Given the description of an element on the screen output the (x, y) to click on. 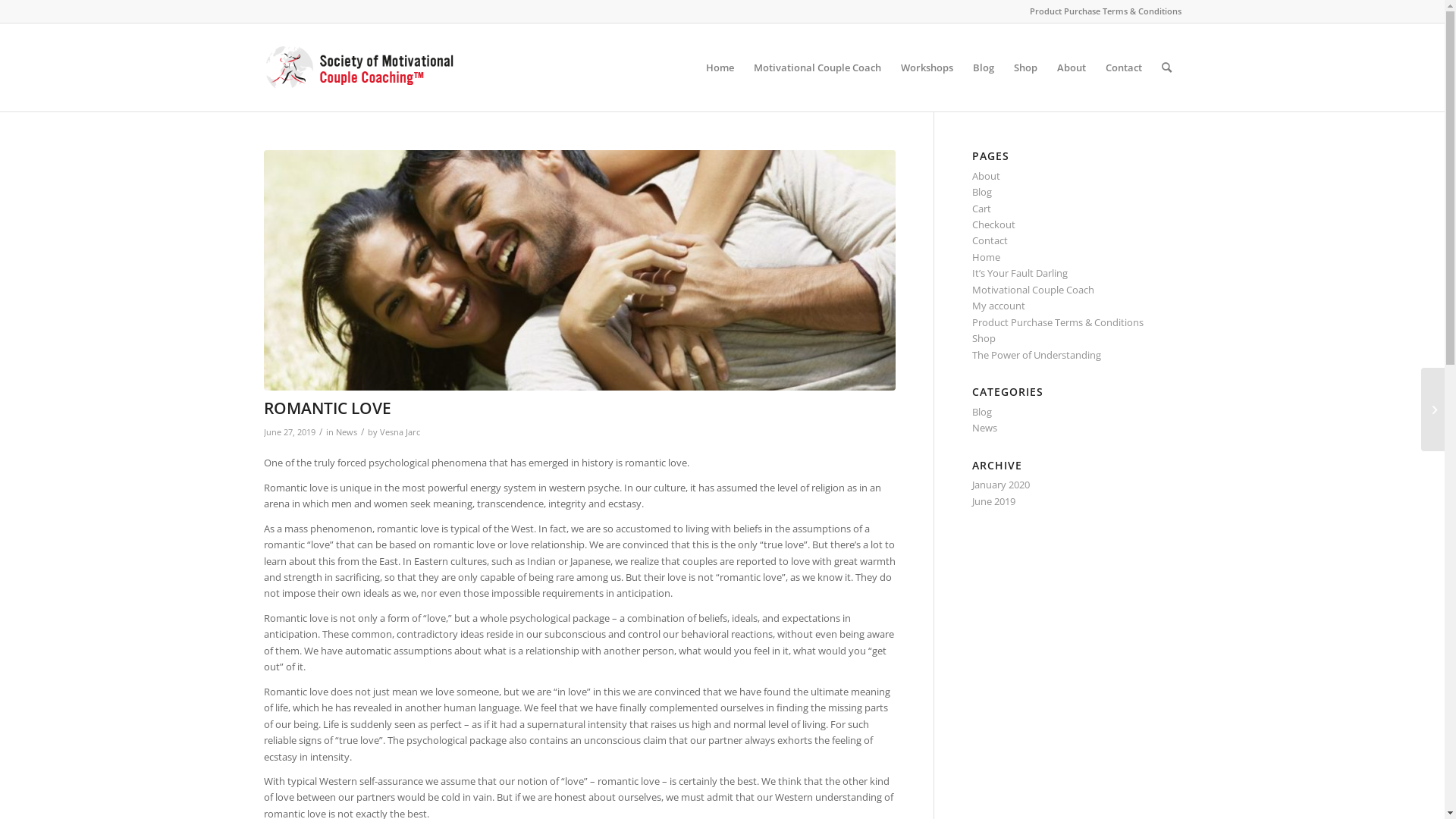
June 2019 Element type: text (993, 501)
Shop Element type: text (1025, 67)
Product Purchase Terms & Conditions Element type: text (1057, 322)
Motivational Couple Coach Element type: text (1033, 289)
Blog Element type: text (981, 411)
Workshops Element type: text (926, 67)
News Element type: text (984, 427)
Shop Element type: text (983, 338)
Contact Element type: text (1123, 67)
About Element type: text (1070, 67)
Vesna Jarc Element type: text (399, 431)
Product Purchase Terms & Conditions Element type: text (1105, 10)
Checkout Element type: text (993, 224)
My account Element type: text (998, 305)
Blog Element type: text (983, 67)
Home Element type: text (986, 256)
Cart Element type: text (981, 208)
January 2020 Element type: text (1000, 484)
News Element type: text (345, 431)
Motivational Couple Coach Element type: text (816, 67)
Home Element type: text (719, 67)
Contact Element type: text (989, 240)
couple Element type: hover (579, 270)
About Element type: text (986, 175)
The Power of Understanding Element type: text (1036, 354)
Blog Element type: text (981, 191)
Couple-Coaching-Logo Element type: hover (359, 67)
